Given the description of an element on the screen output the (x, y) to click on. 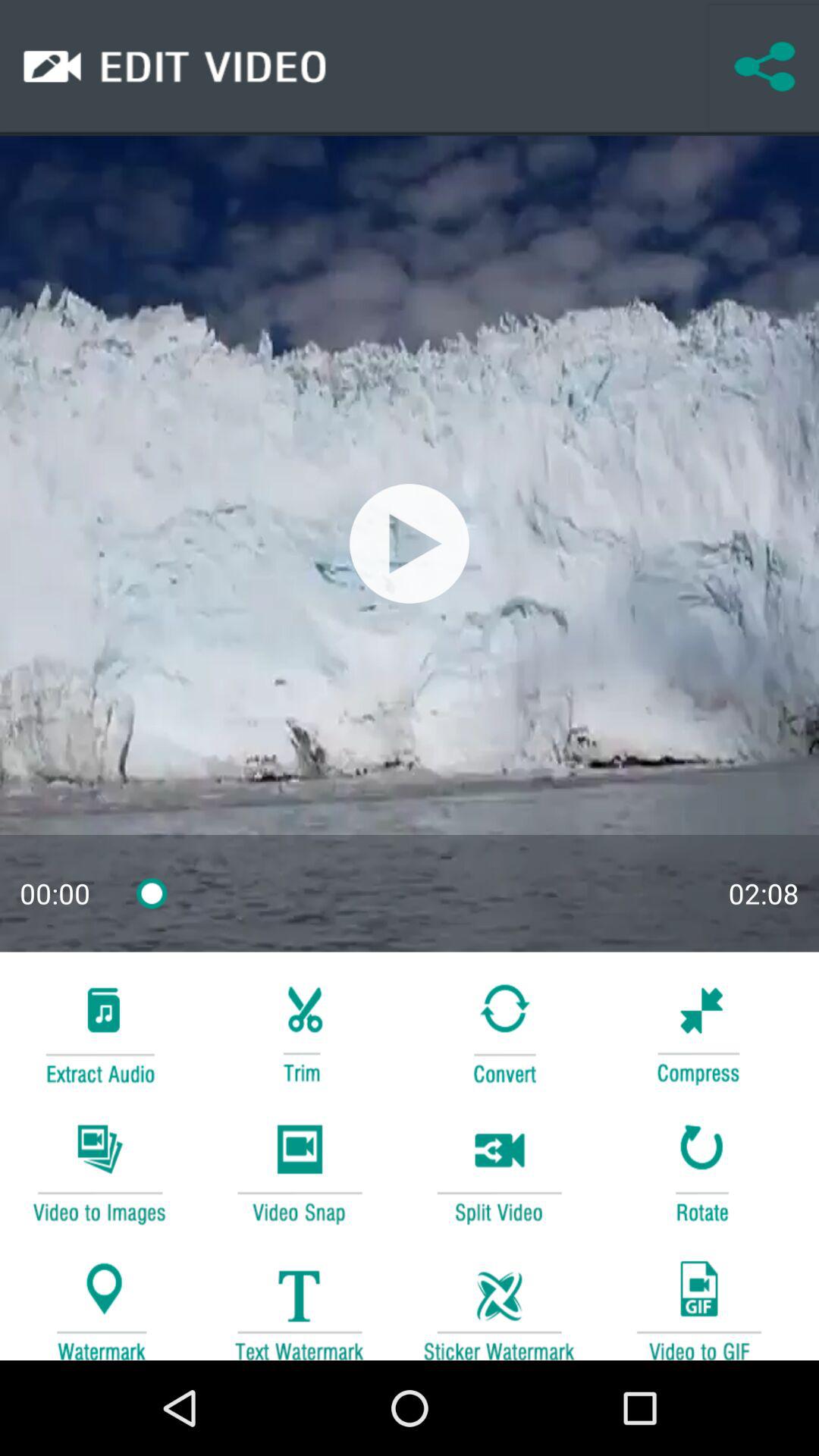
video play button (299, 1171)
